Given the description of an element on the screen output the (x, y) to click on. 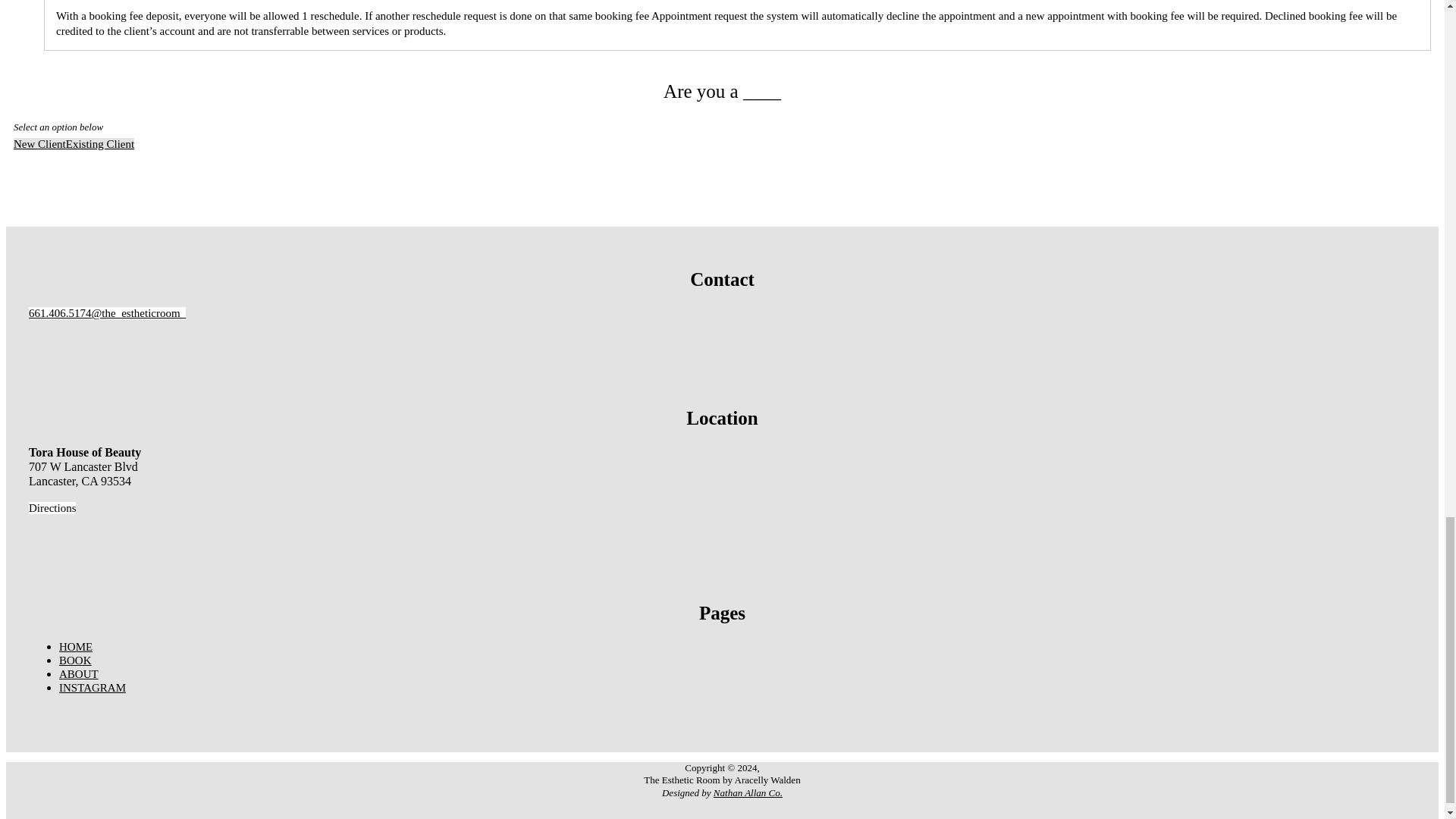
HOME (76, 646)
Existing Client (99, 143)
INSTAGRAM (92, 687)
Directions (52, 508)
New Client (39, 143)
661.406.5174 (60, 313)
ABOUT (79, 674)
Nathan Allan Co. (748, 792)
BOOK (75, 660)
